Given the description of an element on the screen output the (x, y) to click on. 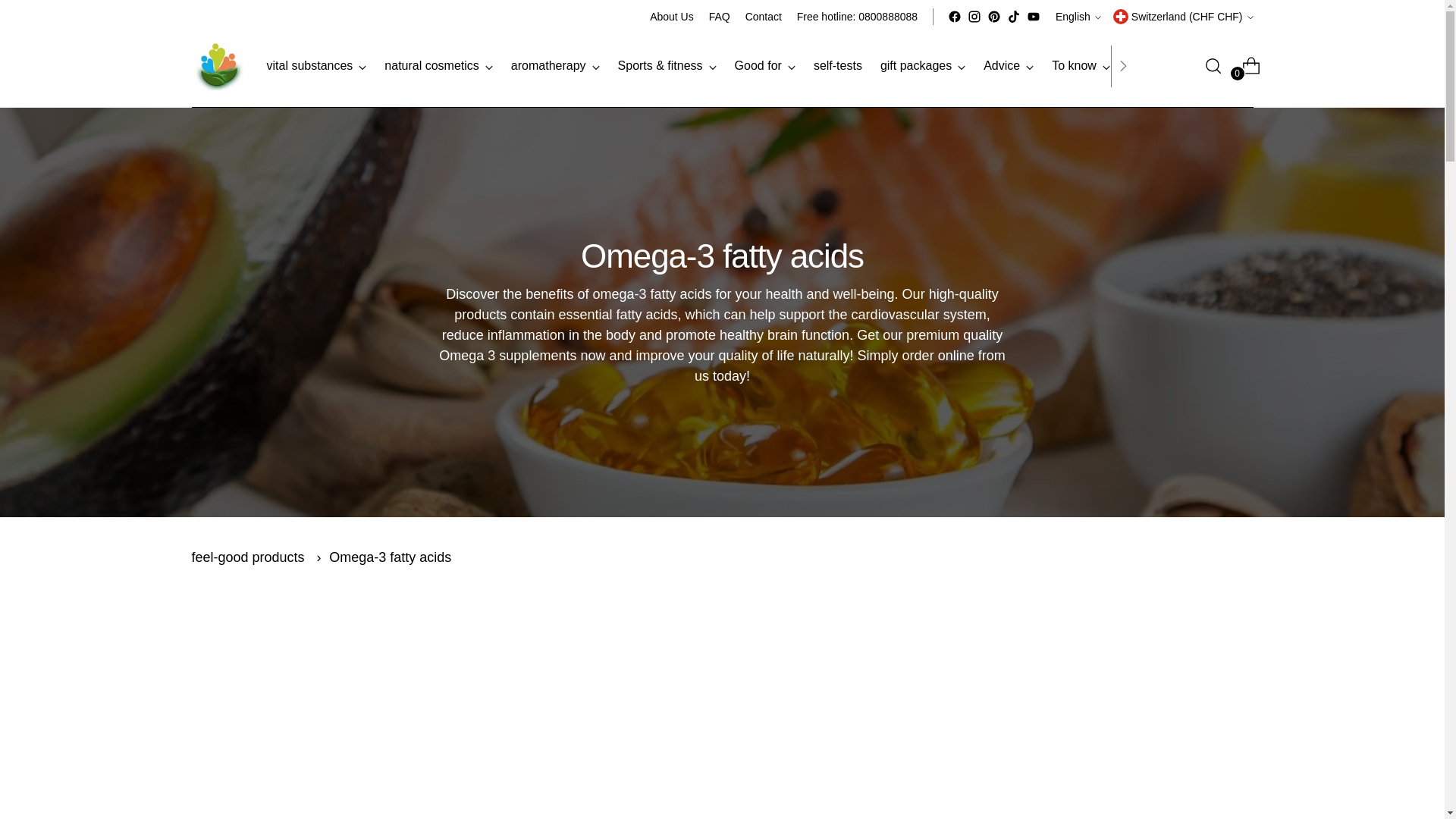
Free hotline: 0800888088 (856, 16)
About Us (671, 16)
Contact (763, 16)
feel-good products (247, 557)
English (1077, 16)
